Given the description of an element on the screen output the (x, y) to click on. 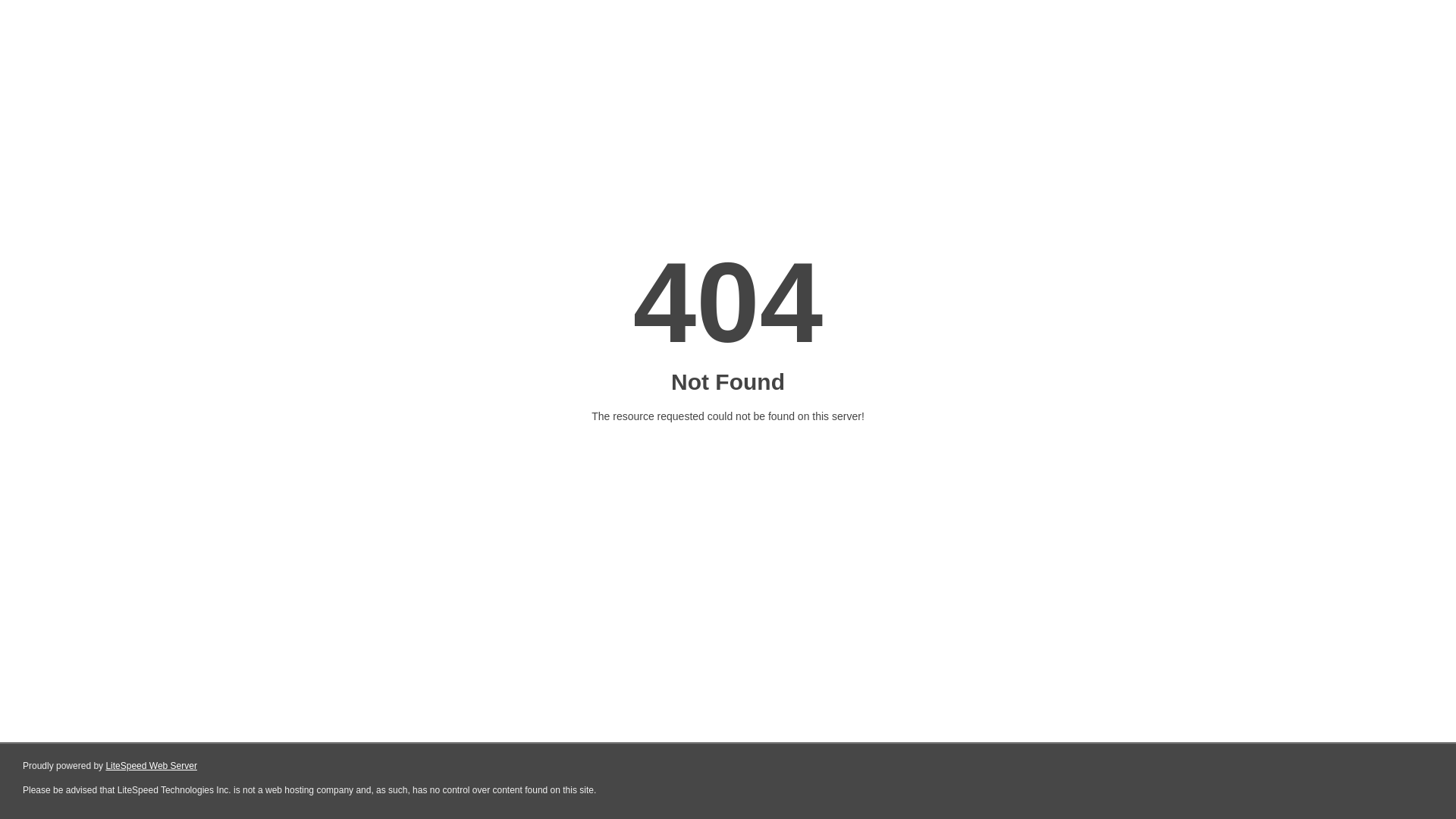
LiteSpeed Web Server Element type: text (151, 765)
